Given the description of an element on the screen output the (x, y) to click on. 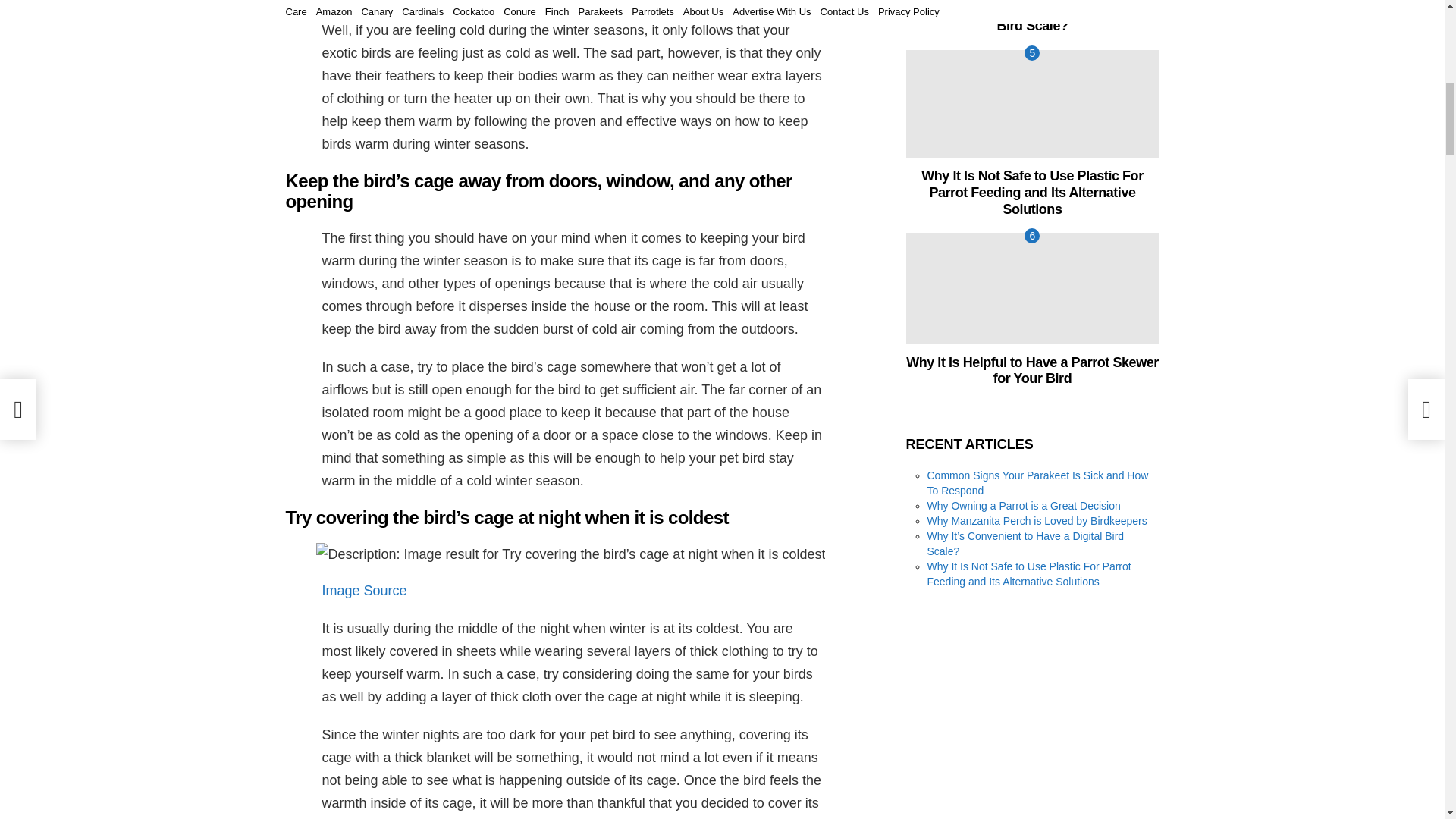
Image Source (363, 590)
Why It Is Helpful to Have a Parrot Skewer for Your Bird (1031, 287)
